Given the description of an element on the screen output the (x, y) to click on. 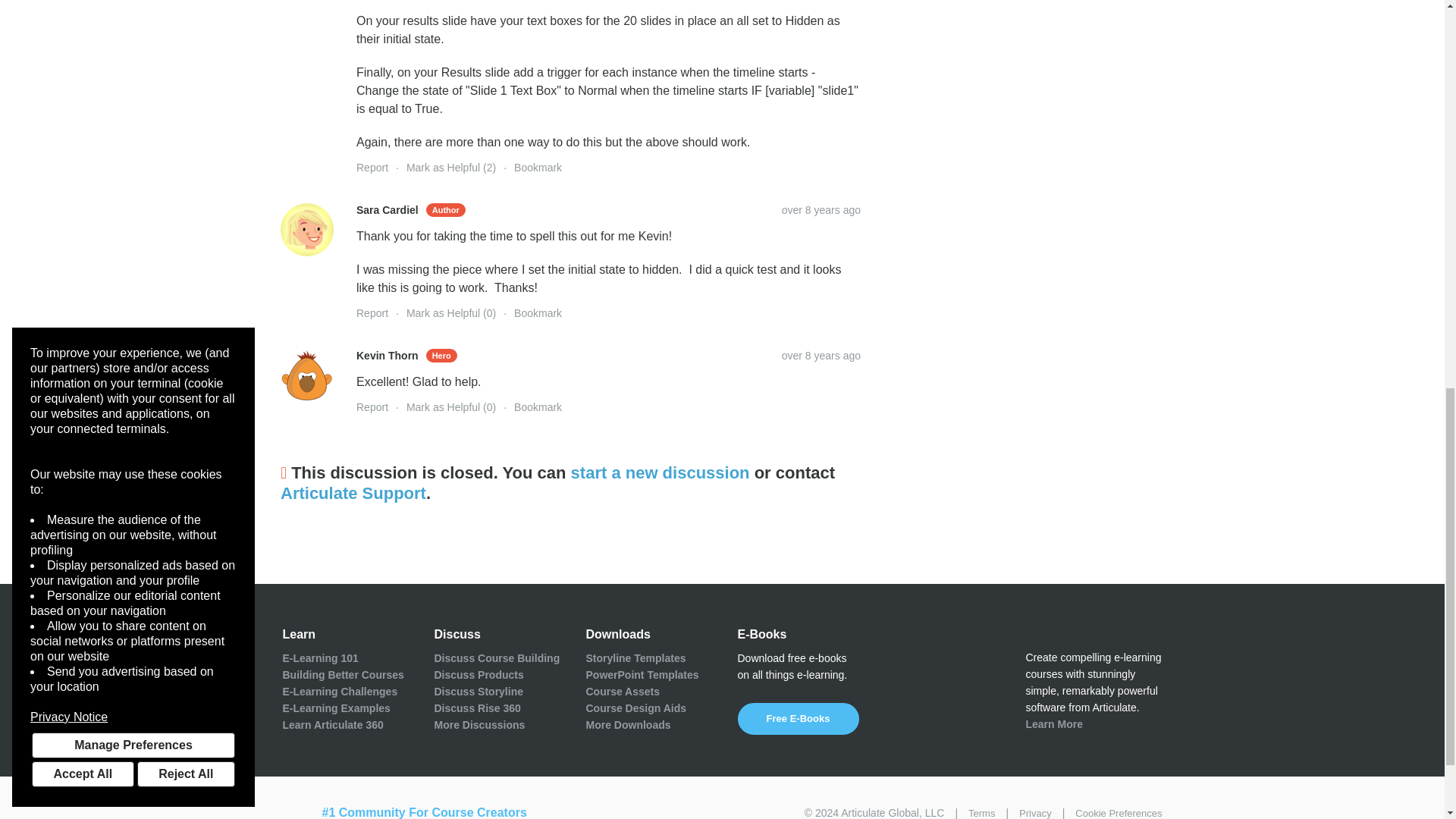
Copy URL to Clipboard (820, 355)
Kevin Thorn (307, 375)
Copy URL to Clipboard (820, 209)
Sara Cardiel (307, 229)
